Given the description of an element on the screen output the (x, y) to click on. 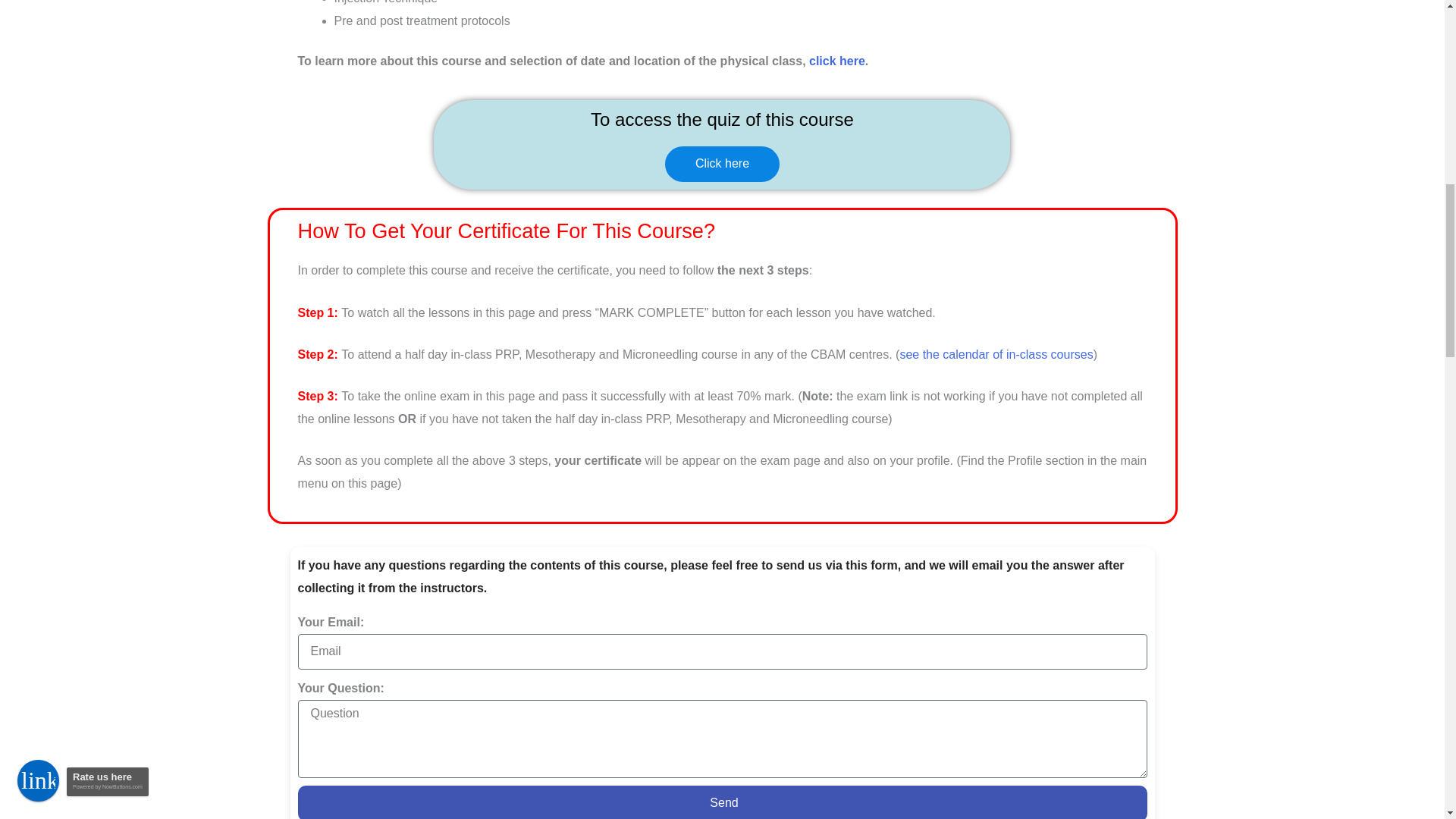
Click here (721, 163)
click here (836, 60)
see the calendar of in-class courses (996, 354)
Send (722, 802)
